Given the description of an element on the screen output the (x, y) to click on. 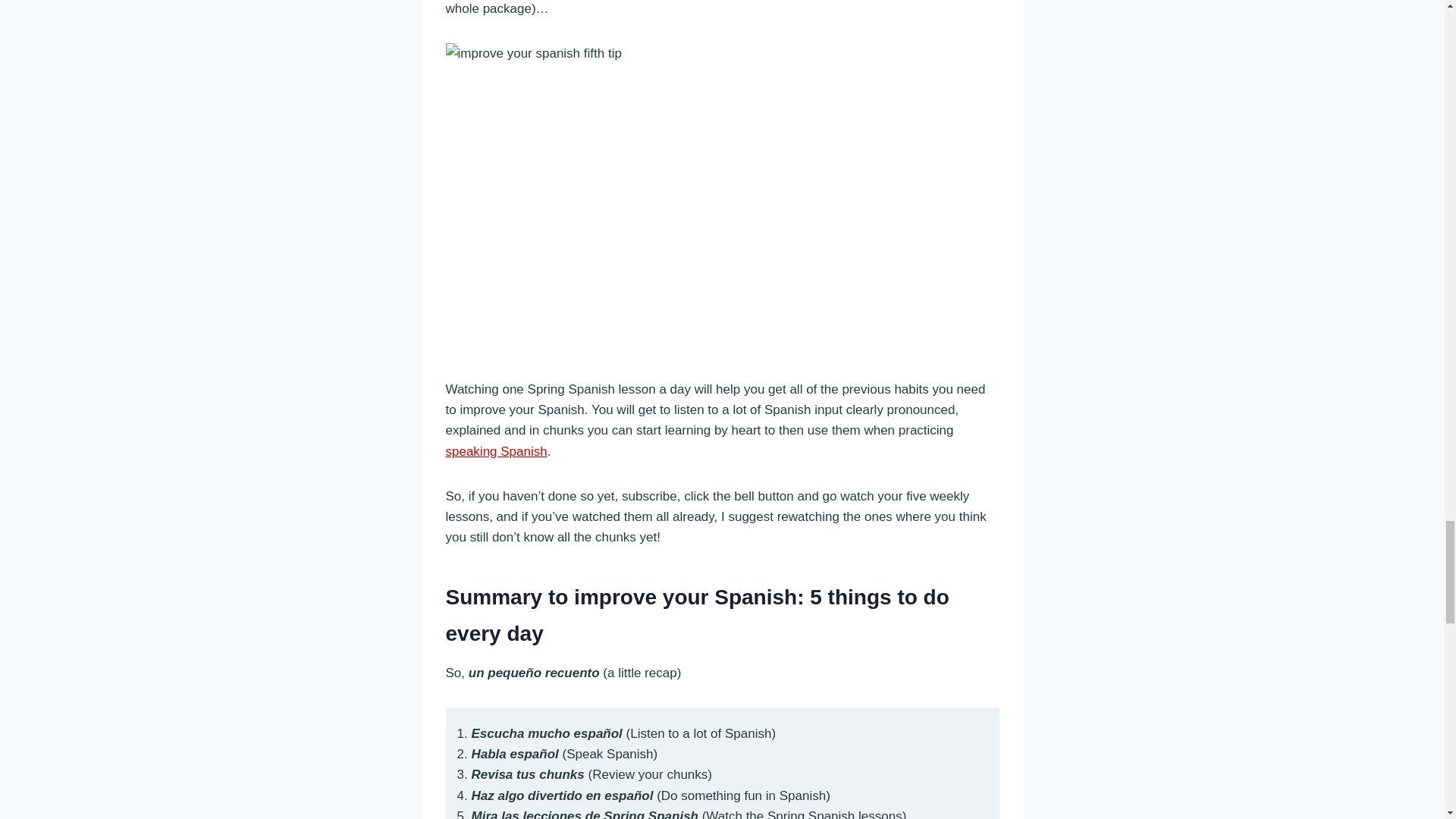
speaking Spanish (496, 451)
